Given the description of an element on the screen output the (x, y) to click on. 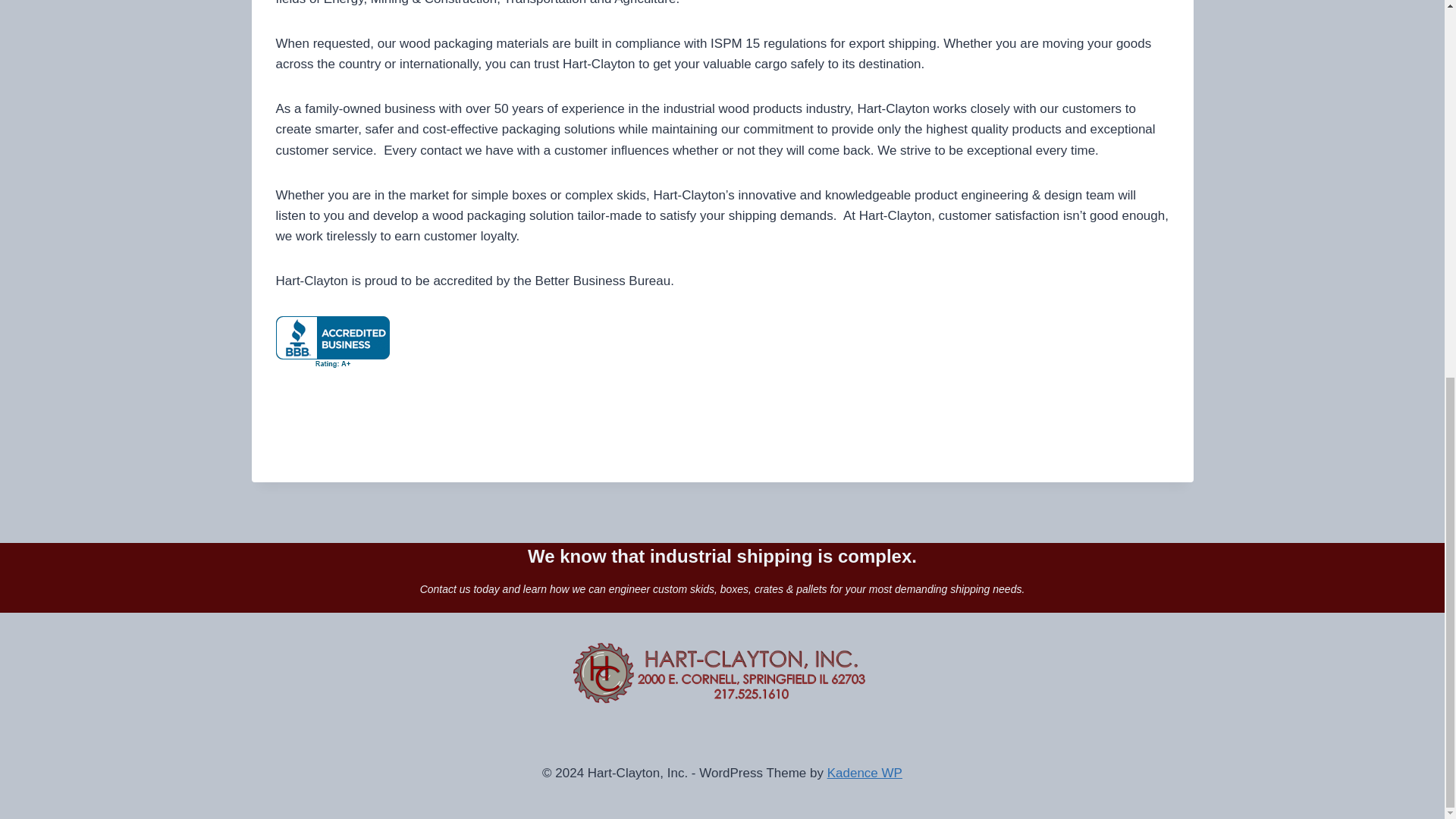
Kadence WP (864, 772)
